Given the description of an element on the screen output the (x, y) to click on. 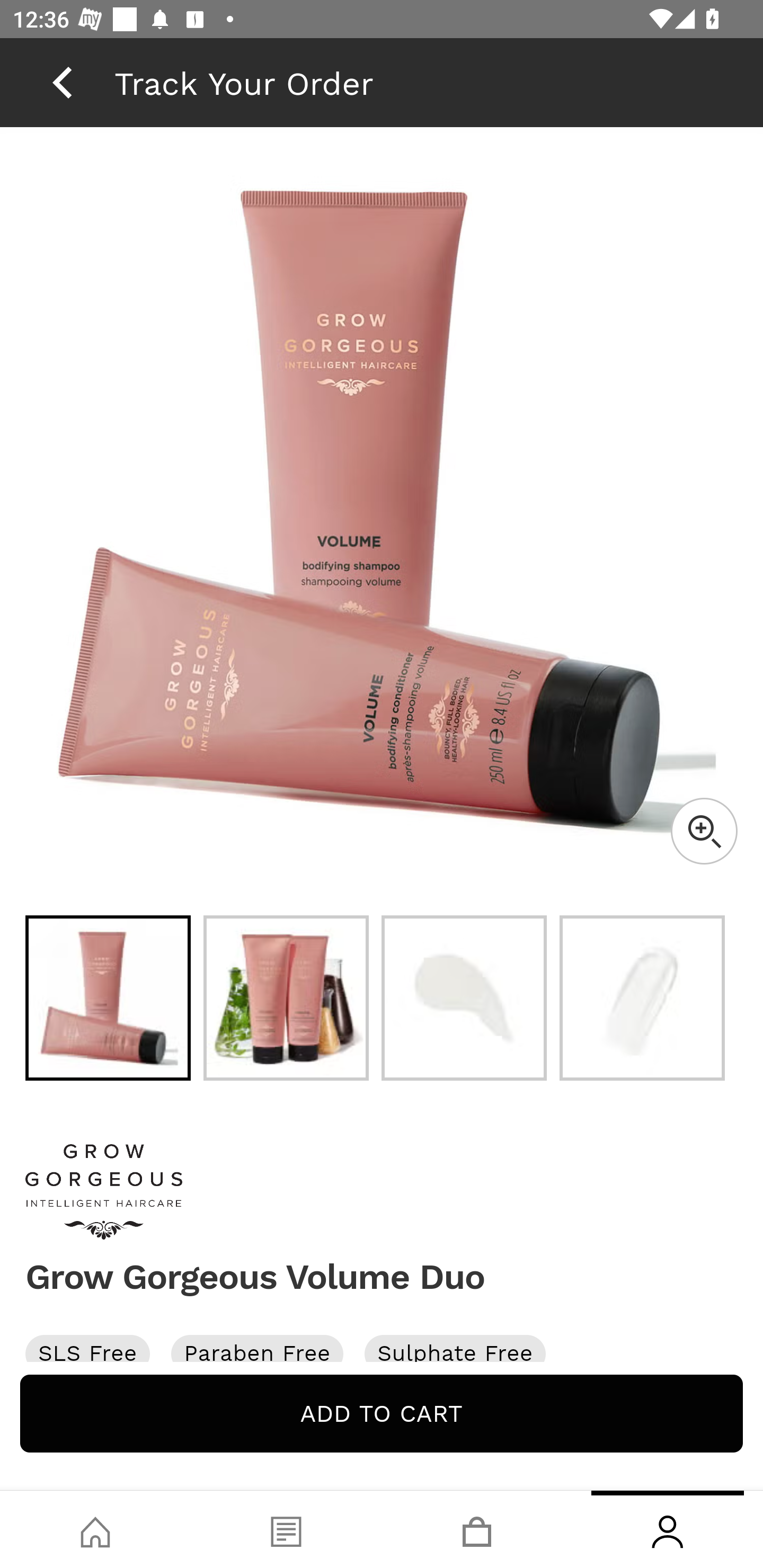
back (61, 82)
Zoom (703, 830)
Open image 1 - Grow Gorgeous Volume Duo (107, 997)
Open image 2 - Grow Gorgeous Volume Duo (285, 997)
Open image 3 - Grow Gorgeous Volume Duo (464, 997)
Open image 4 - Grow Gorgeous Volume Duo (641, 997)
Grow Gorgeous (381, 1192)
Add to cart (381, 1413)
Shop, tab, 1 of 4 (95, 1529)
Blog, tab, 2 of 4 (285, 1529)
Basket, tab, 3 of 4 (476, 1529)
Account, tab, 4 of 4 (667, 1529)
